Given the description of an element on the screen output the (x, y) to click on. 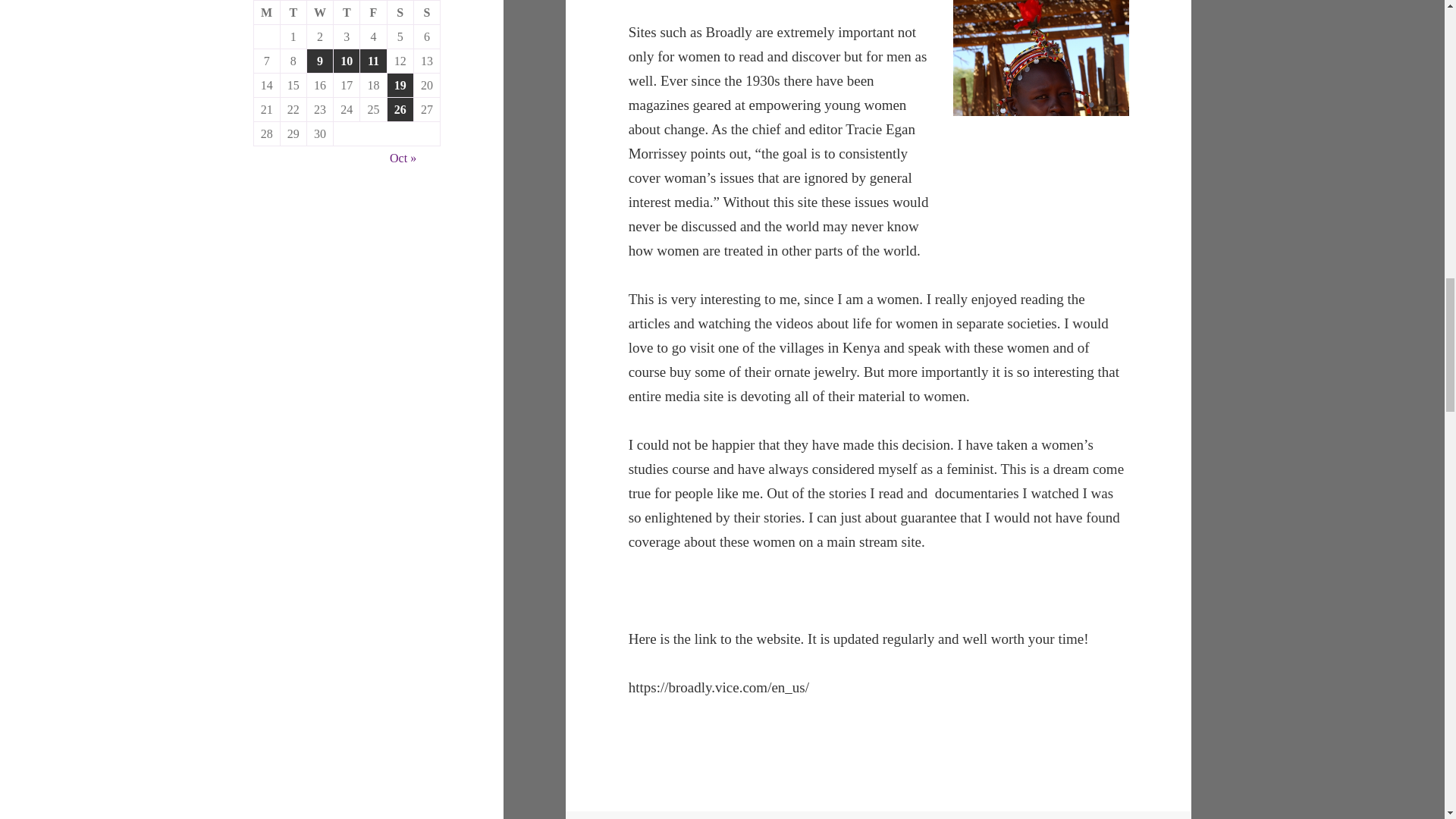
Tuesday (294, 12)
Sunday (427, 12)
19 (400, 85)
Saturday (400, 12)
26 (400, 109)
9 (320, 60)
Wednesday (320, 12)
Thursday (346, 12)
11 (372, 60)
Monday (267, 12)
Friday (373, 12)
10 (346, 60)
